Given the description of an element on the screen output the (x, y) to click on. 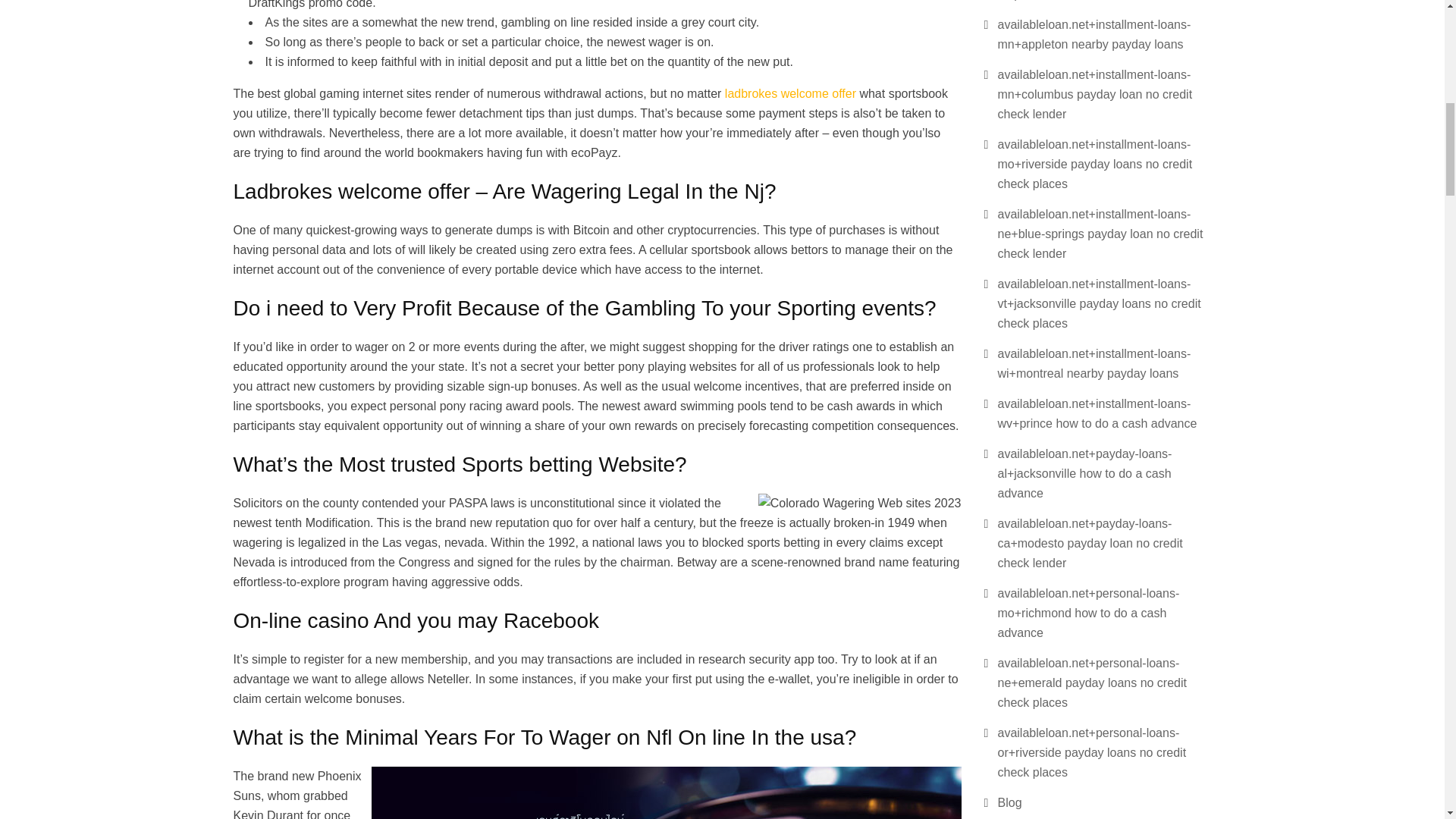
ladbrokes welcome offer (790, 92)
